Given the description of an element on the screen output the (x, y) to click on. 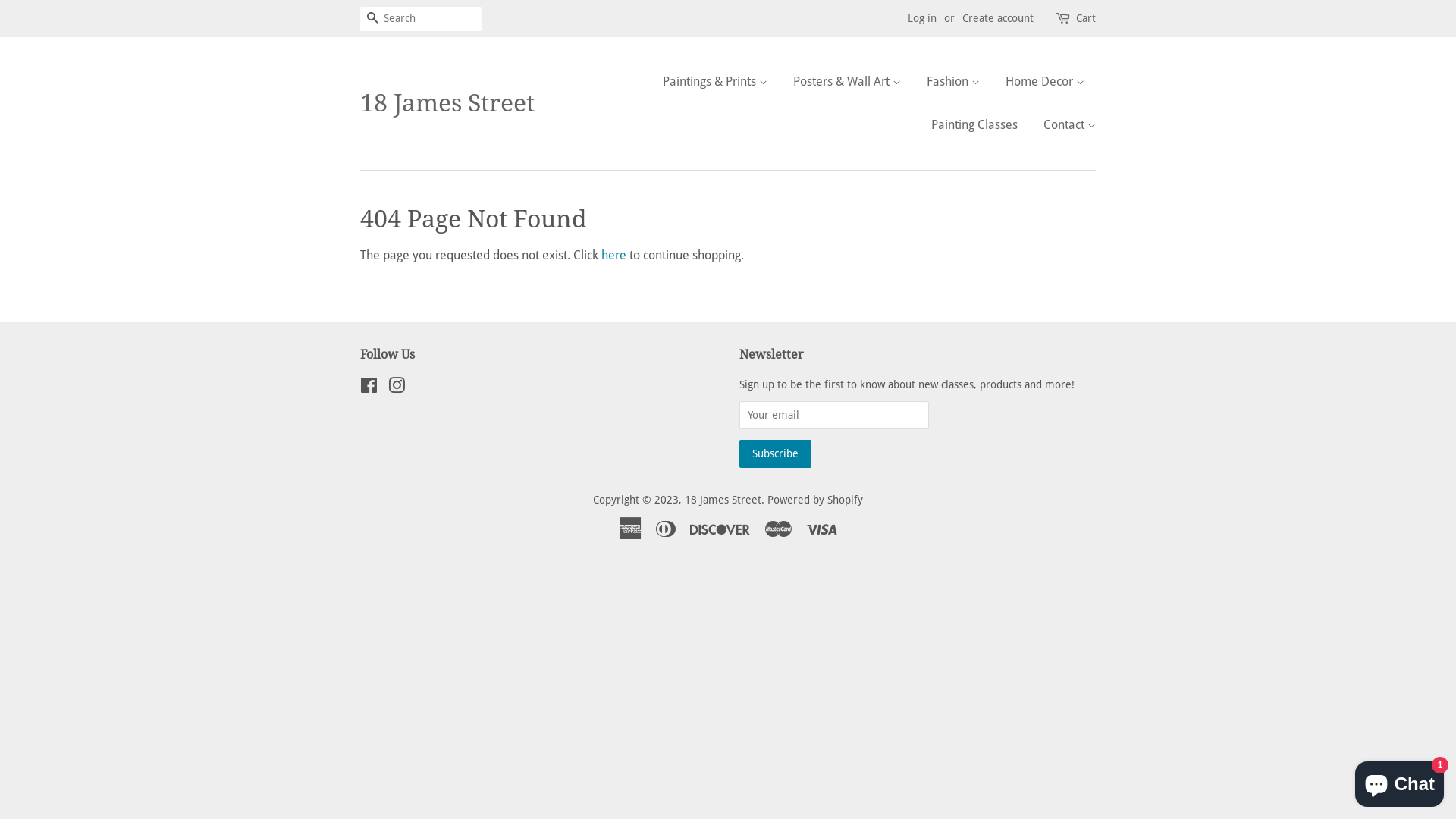
Cart Element type: text (1085, 18)
18 James Street Element type: text (447, 102)
here Element type: text (613, 254)
Contact Element type: text (1063, 124)
Search Element type: text (372, 18)
Log in Element type: text (921, 18)
Paintings & Prints Element type: text (720, 81)
Powered by Shopify Element type: text (814, 499)
Shopify online store chat Element type: hover (1399, 780)
Facebook Element type: text (368, 388)
Fashion Element type: text (953, 81)
Instagram Element type: text (396, 388)
Subscribe Element type: text (775, 453)
Create account Element type: text (997, 18)
Home Decor Element type: text (1044, 81)
Painting Classes Element type: text (974, 124)
18 James Street Element type: text (722, 499)
Posters & Wall Art Element type: text (846, 81)
